Given the description of an element on the screen output the (x, y) to click on. 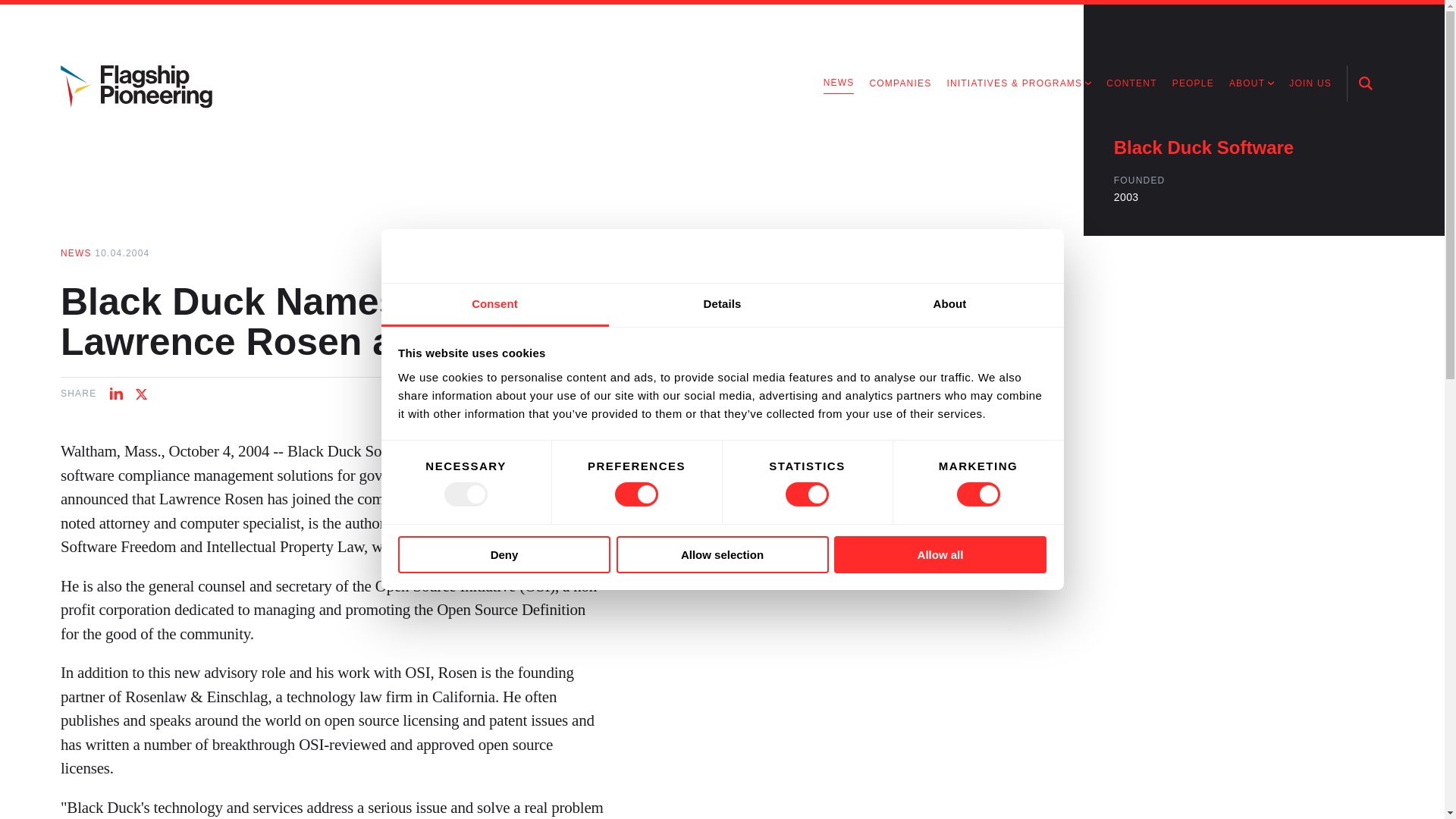
Details (721, 304)
About (948, 304)
Consent (494, 304)
